Given the description of an element on the screen output the (x, y) to click on. 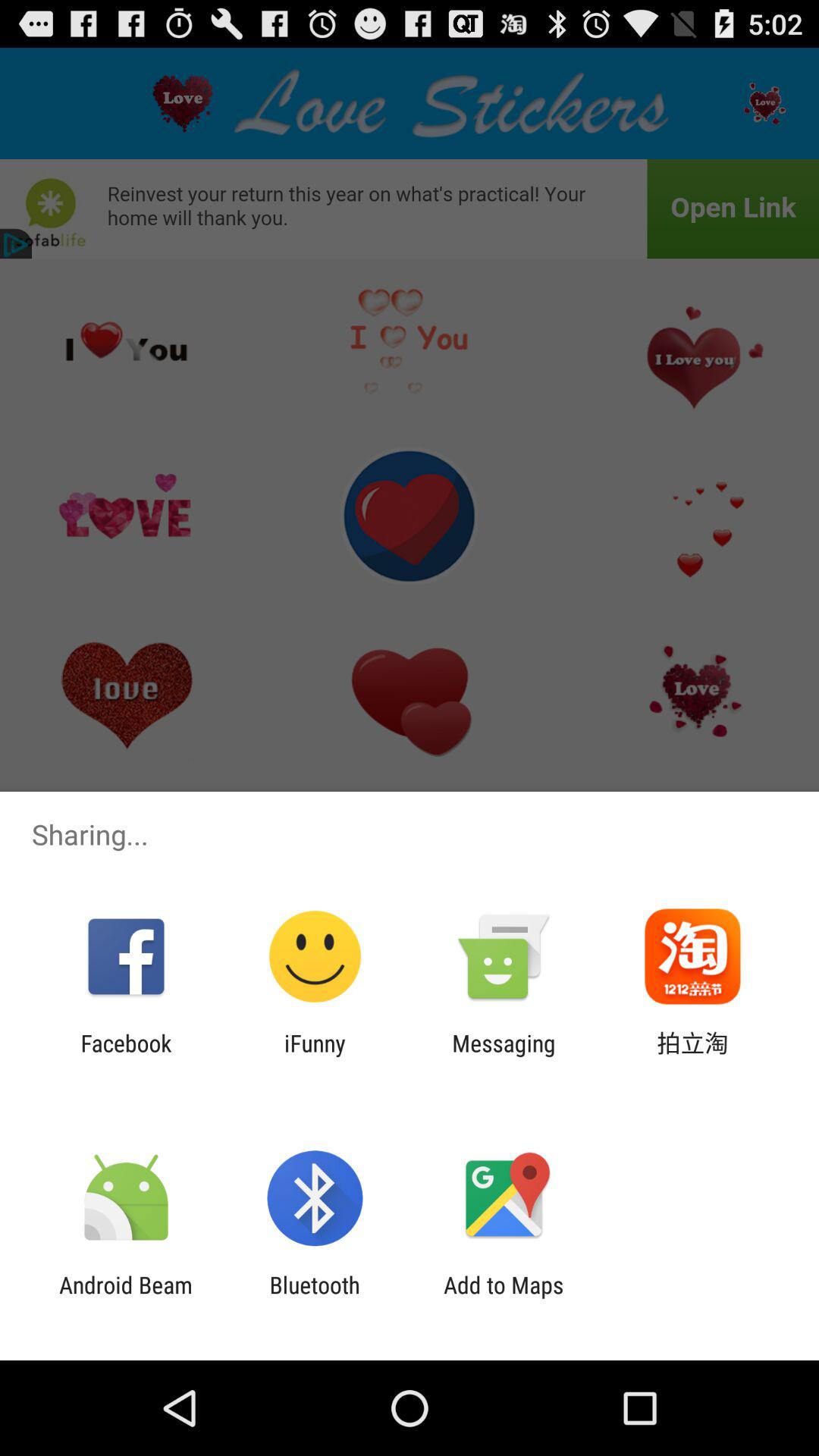
jump until bluetooth icon (314, 1298)
